Given the description of an element on the screen output the (x, y) to click on. 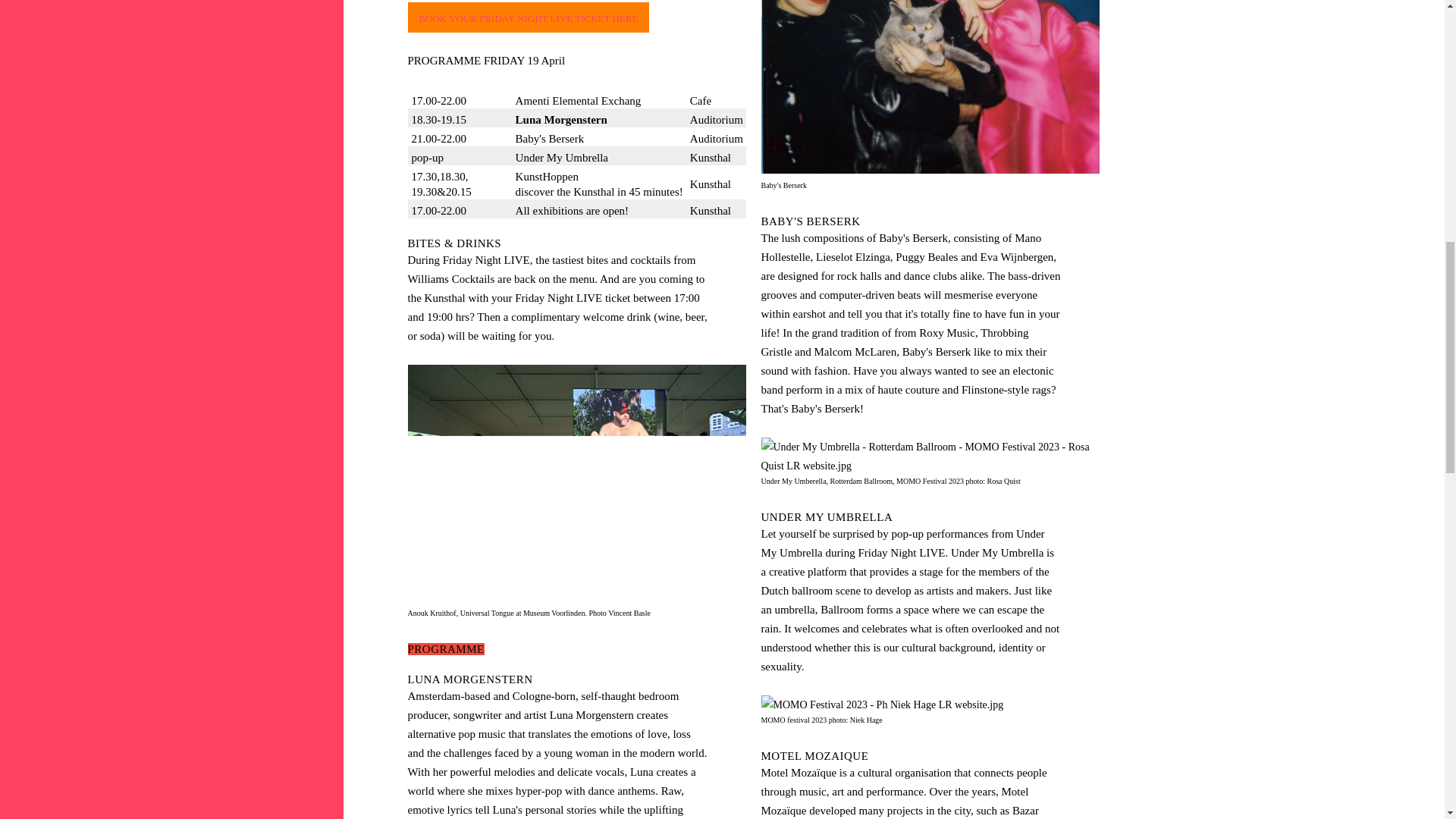
Baby's Berserk (930, 86)
MOMO festival 2023 photo: Niek Hage (882, 704)
BOOK YOUR FRIDAY NIGHT LIVE TICKET HERE (528, 17)
